Given the description of an element on the screen output the (x, y) to click on. 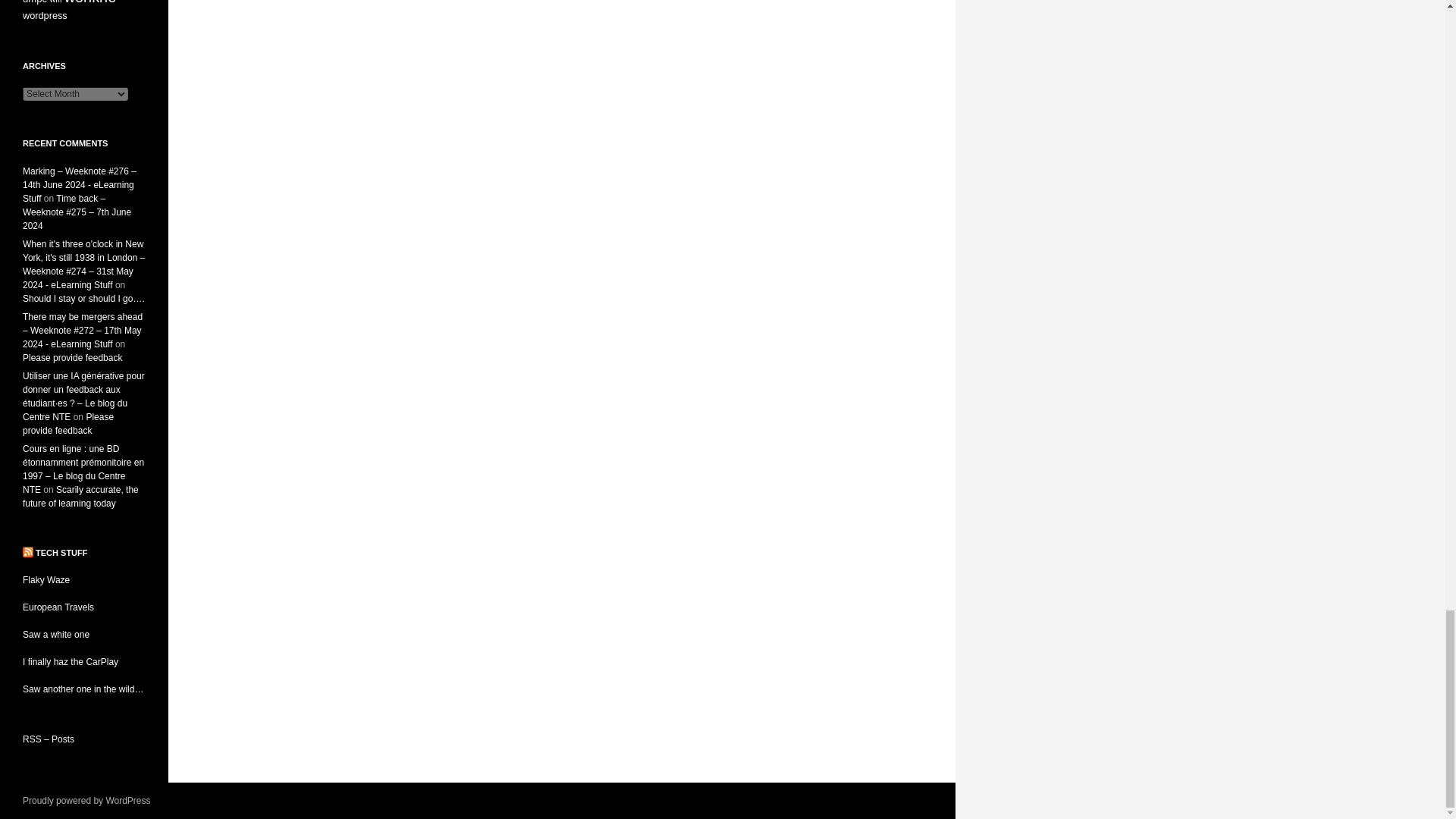
Subscribe to posts (48, 738)
